Given the description of an element on the screen output the (x, y) to click on. 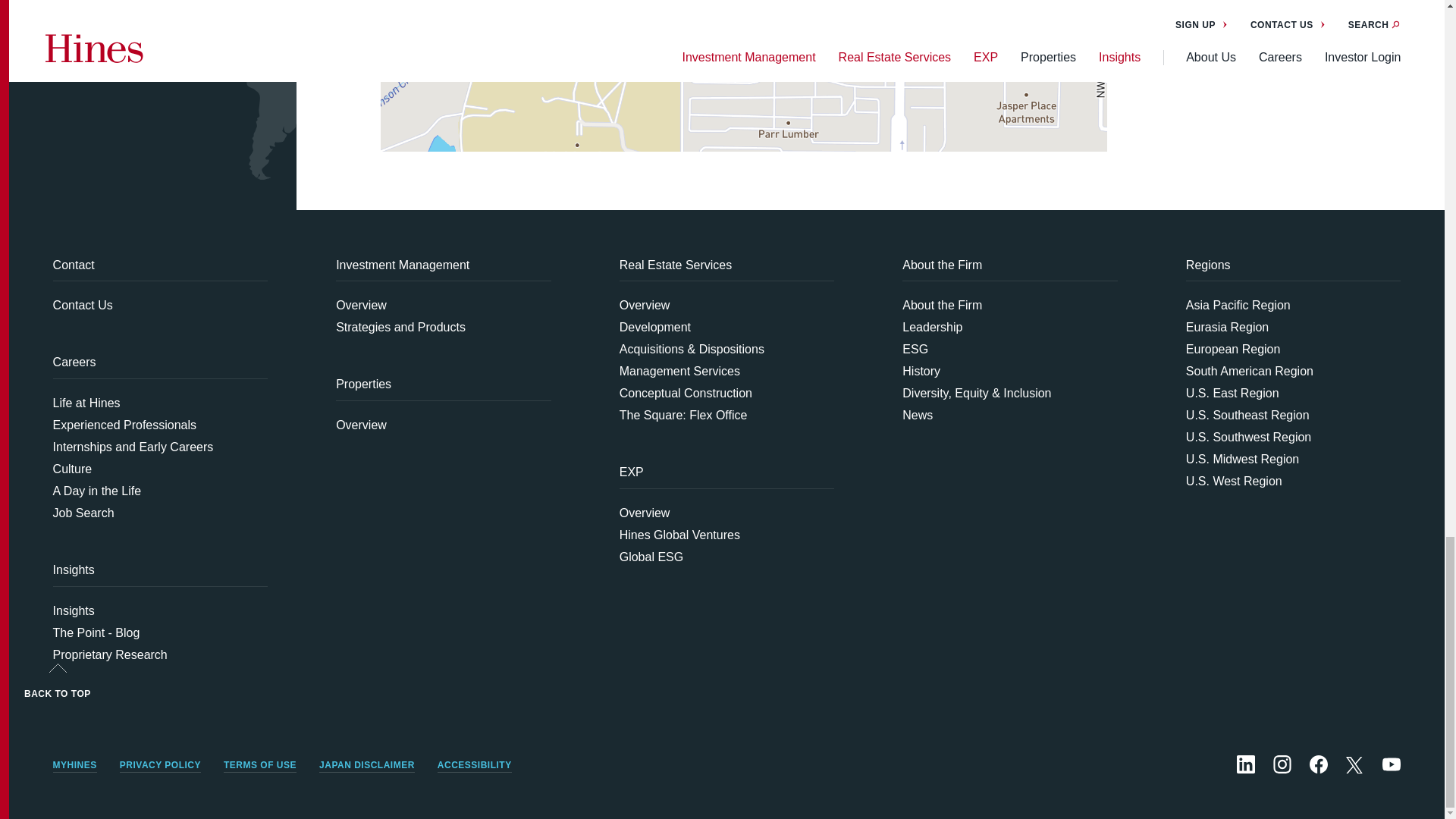
BACK TO TOP (57, 678)
BACK TO TOP (57, 693)
